Given the description of an element on the screen output the (x, y) to click on. 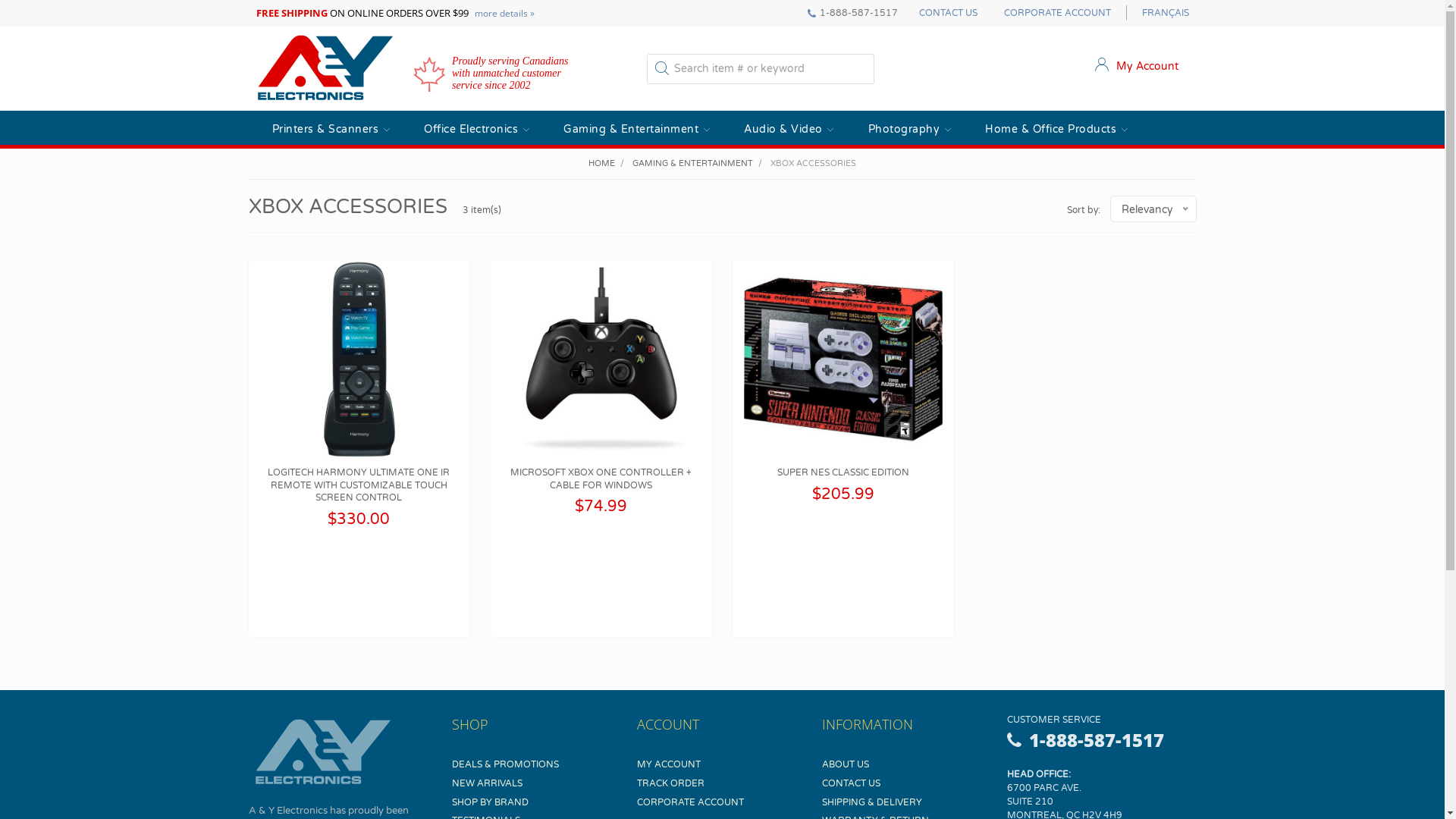
Gaming & Entertainment Element type: text (630, 129)
CORPORATE ACCOUNT Element type: text (1057, 12)
DEALS & PROMOTIONS Element type: text (504, 764)
HOME Element type: text (601, 163)
My Account Element type: text (1136, 66)
GAMING & ENTERTAINMENT Element type: text (692, 163)
Audio & Video Element type: text (783, 129)
TRACK ORDER Element type: text (670, 783)
ABOUT US Element type: text (845, 764)
Home & Office Products Element type: text (1050, 129)
SHIPPING & DELIVERY Element type: text (872, 802)
Search Element type: hover (661, 70)
Super NES classic edition Element type: hover (842, 359)
Office Electronics Element type: text (470, 129)
MY ACCOUNT Element type: text (668, 764)
CORPORATE ACCOUNT Element type: text (690, 802)
Photography Element type: text (903, 129)
CONTACT US Element type: text (948, 12)
CONTACT US Element type: text (851, 783)
Microsoft Xbox One Controller + Cable for Windows Element type: hover (601, 359)
Printers & Scanners Element type: text (324, 129)
NEW ARRIVALS Element type: text (486, 783)
SHOP BY BRAND Element type: text (489, 802)
MICROSOFT XBOX ONE CONTROLLER + CABLE FOR WINDOWS Element type: text (600, 478)
SUPER NES CLASSIC EDITION Element type: text (843, 472)
